Given the description of an element on the screen output the (x, y) to click on. 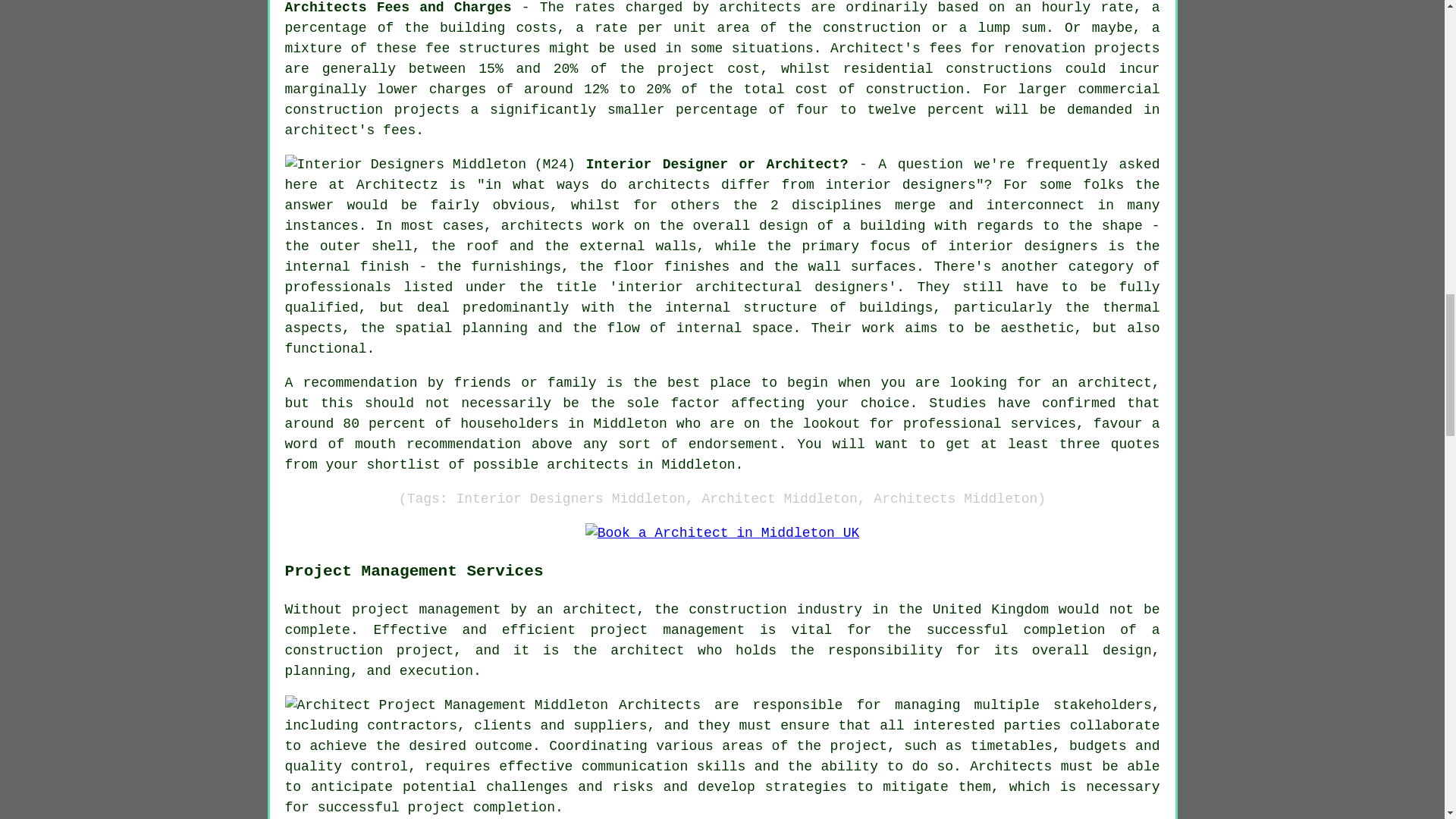
architect's fees (350, 130)
interior architectural designers (752, 287)
Architect Project Management Middleton (446, 705)
project management (667, 630)
Book a Architect in Middleton UK (722, 533)
